Given the description of an element on the screen output the (x, y) to click on. 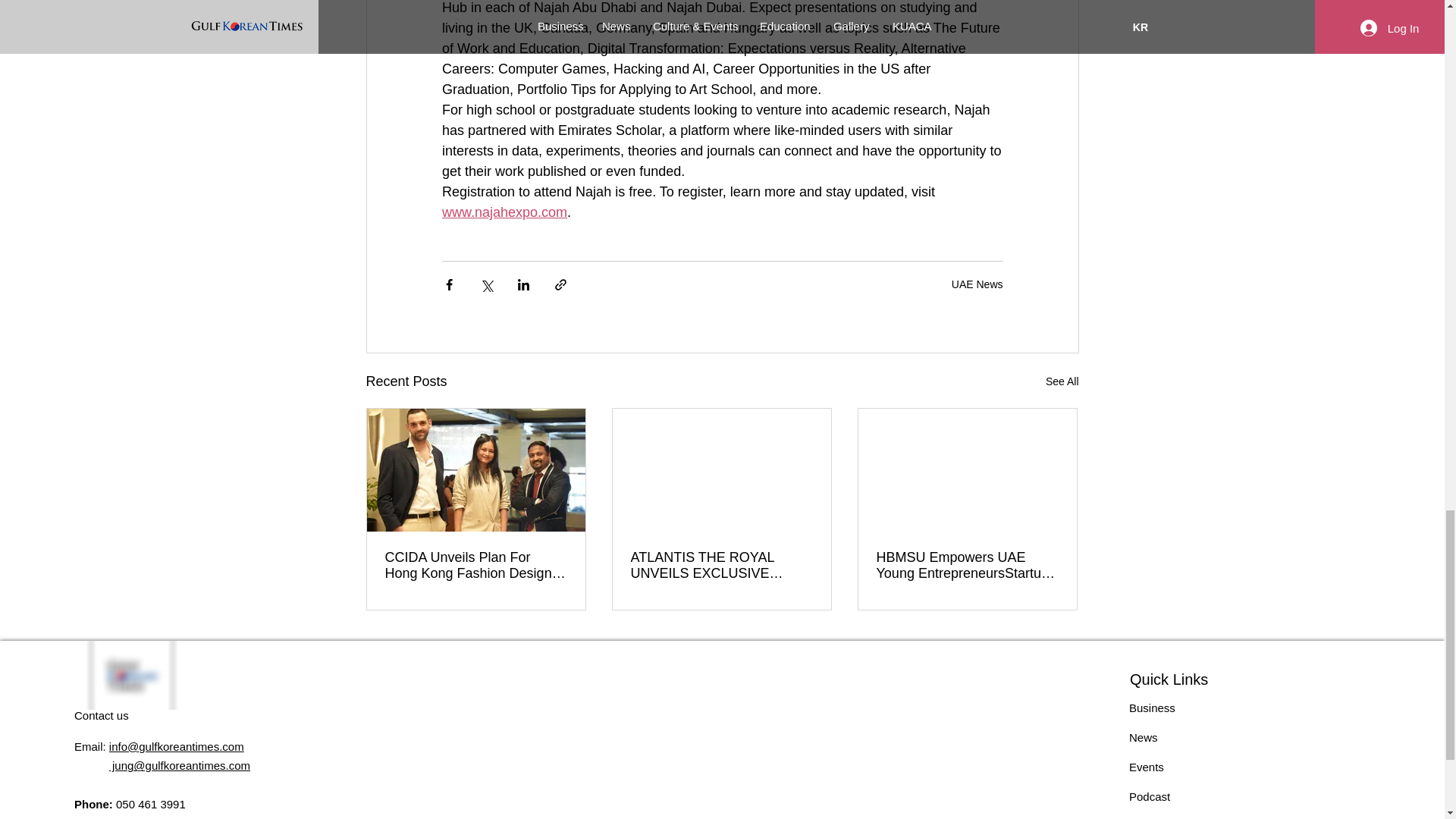
Events (1146, 766)
See All (1061, 382)
ATLANTIS THE ROYAL UNVEILS EXCLUSIVE SUMMER OFFER (721, 565)
Business (1151, 707)
Podcast (1149, 796)
UAE News (977, 284)
News (1143, 737)
www.najahexpo.com (503, 212)
